Given the description of an element on the screen output the (x, y) to click on. 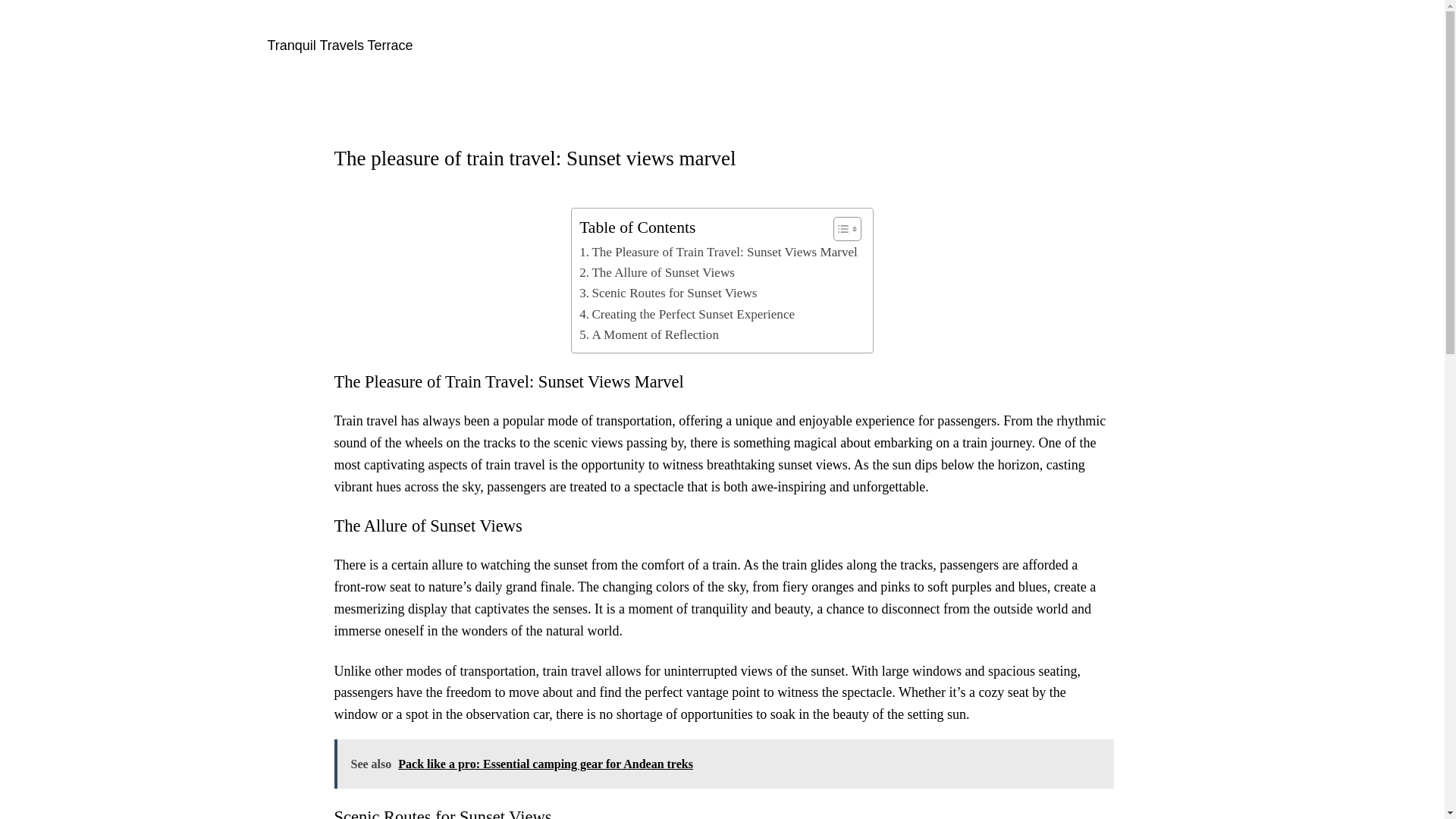
Tranquil Travels Terrace (339, 45)
Scenic Routes for Sunset Views (668, 292)
A Moment of Reflection (649, 334)
The Allure of Sunset Views (657, 272)
A Moment of Reflection (649, 334)
The Pleasure of Train Travel: Sunset Views Marvel (718, 251)
Creating the Perfect Sunset Experience (686, 313)
The Allure of Sunset Views (657, 272)
The Pleasure of Train Travel: Sunset Views Marvel (718, 251)
Scenic Routes for Sunset Views (668, 292)
Creating the Perfect Sunset Experience (686, 313)
